Given the description of an element on the screen output the (x, y) to click on. 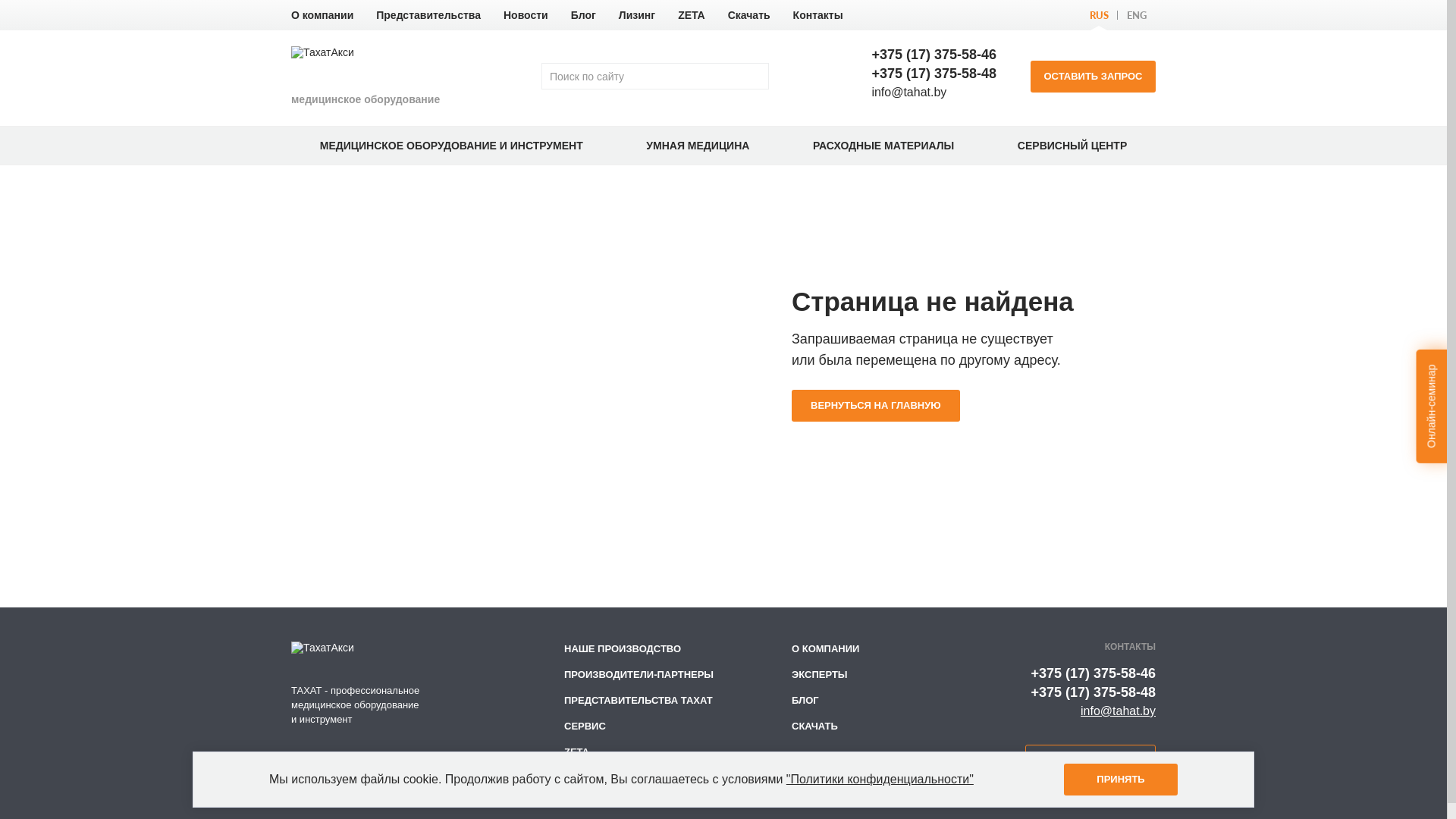
ENG Element type: text (1136, 15)
+375 (17) 375-58-46 Element type: text (1092, 672)
info@tahat.by Element type: text (1117, 711)
ZETA Element type: text (691, 15)
+375 (17) 375-58-46 Element type: text (933, 54)
info@tahat.by Element type: text (908, 92)
ZETA Element type: text (576, 751)
+375 (17) 375-58-48 Element type: text (1092, 691)
+375 (17) 375-58-48 Element type: text (933, 73)
